Given the description of an element on the screen output the (x, y) to click on. 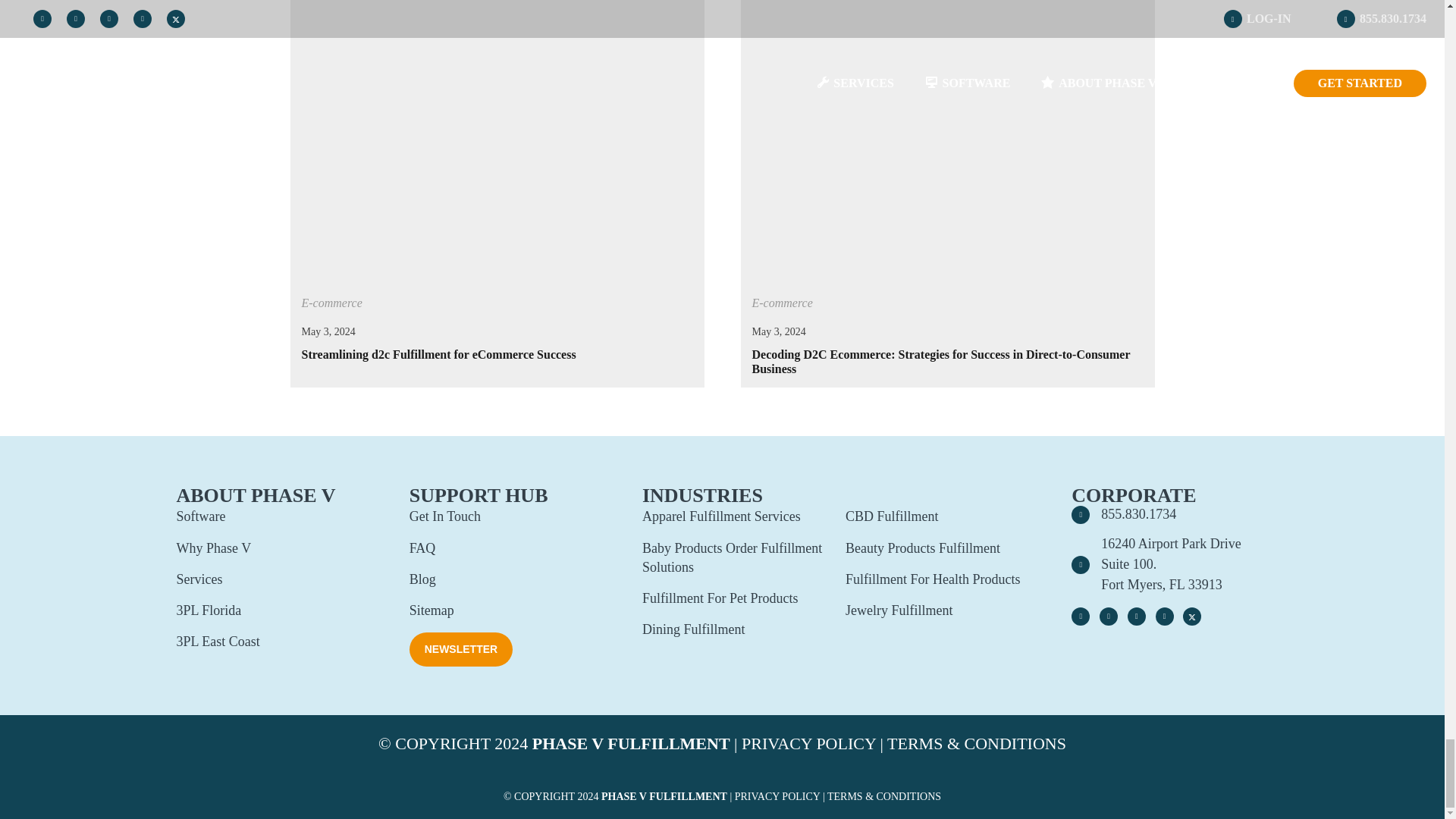
Twitter (1191, 616)
Instagram (1080, 616)
LinkedIn (1164, 616)
Facebook (1108, 616)
YouTube (1135, 616)
